Given the description of an element on the screen output the (x, y) to click on. 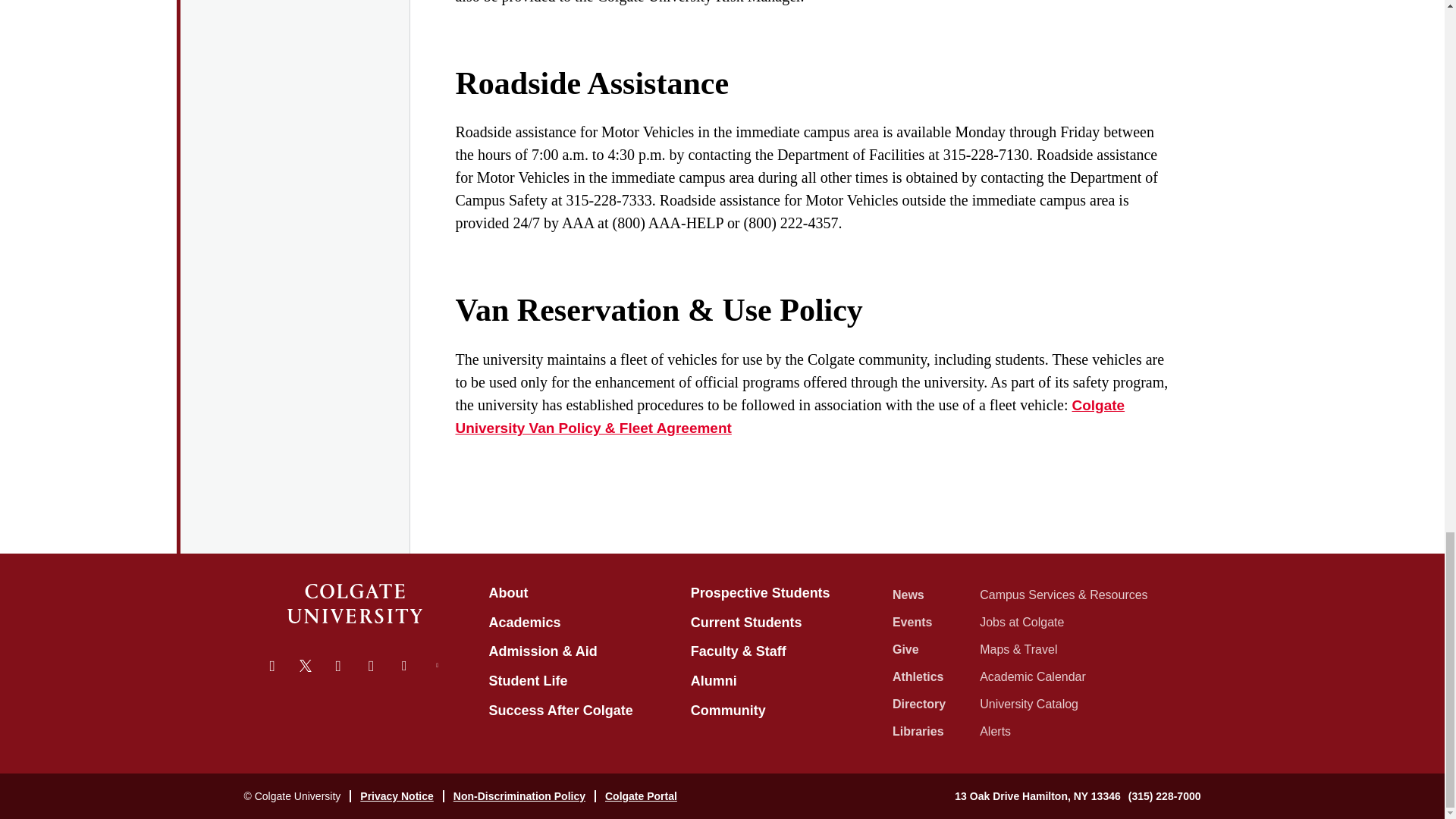
colgate-university-van-policy-fleet-agreement.pdf (789, 416)
